Given the description of an element on the screen output the (x, y) to click on. 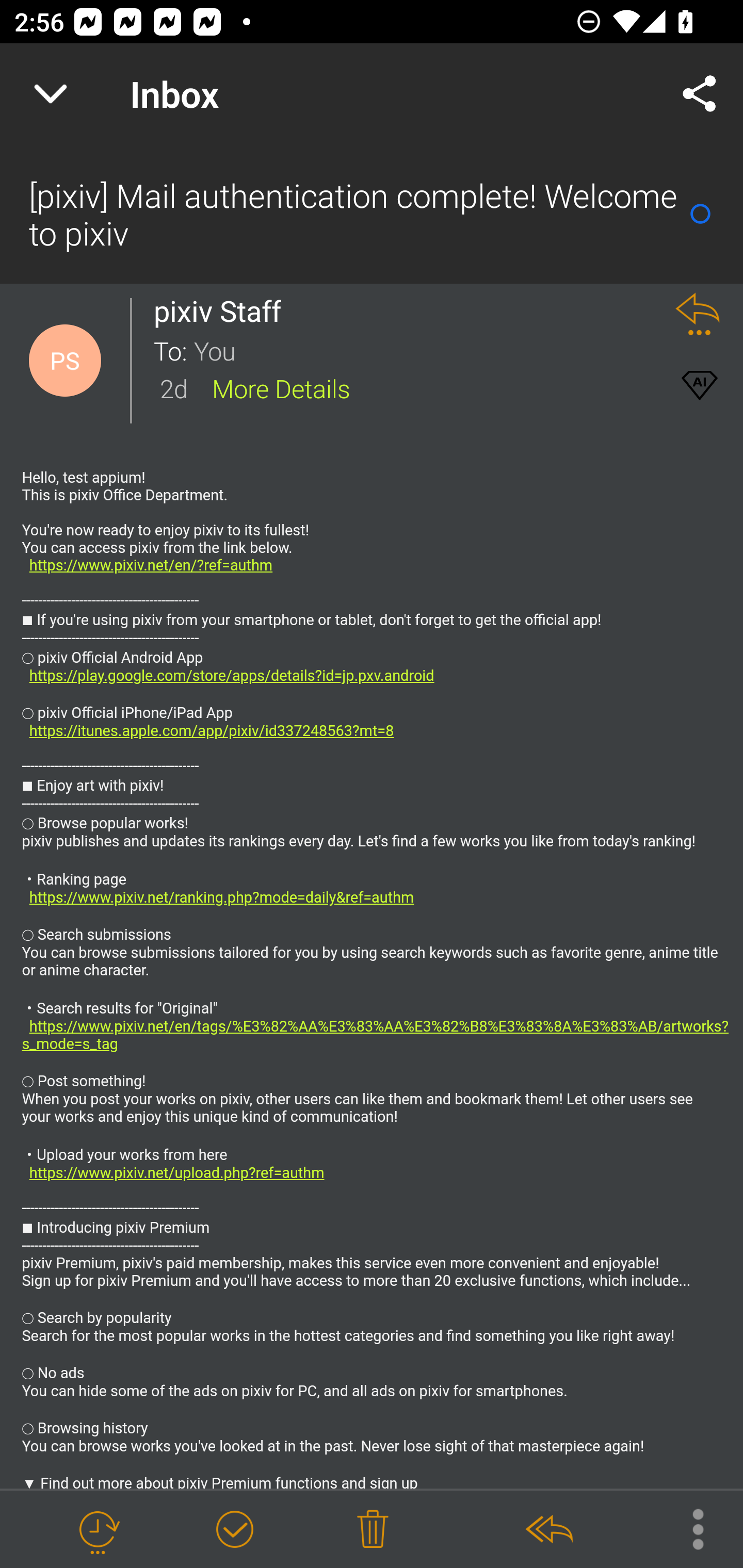
Navigate up (50, 93)
Share (699, 93)
Mark as Read (699, 213)
pixiv Staff (222, 310)
Contact Details (64, 360)
More Details (280, 387)
https://www.pixiv.net/en/?ref=authm (151, 565)
https://www.pixiv.net/upload.php?ref=authm (176, 1173)
Snooze (97, 1529)
Mark as Done (234, 1529)
Delete (372, 1529)
Reply All (548, 1529)
